Given the description of an element on the screen output the (x, y) to click on. 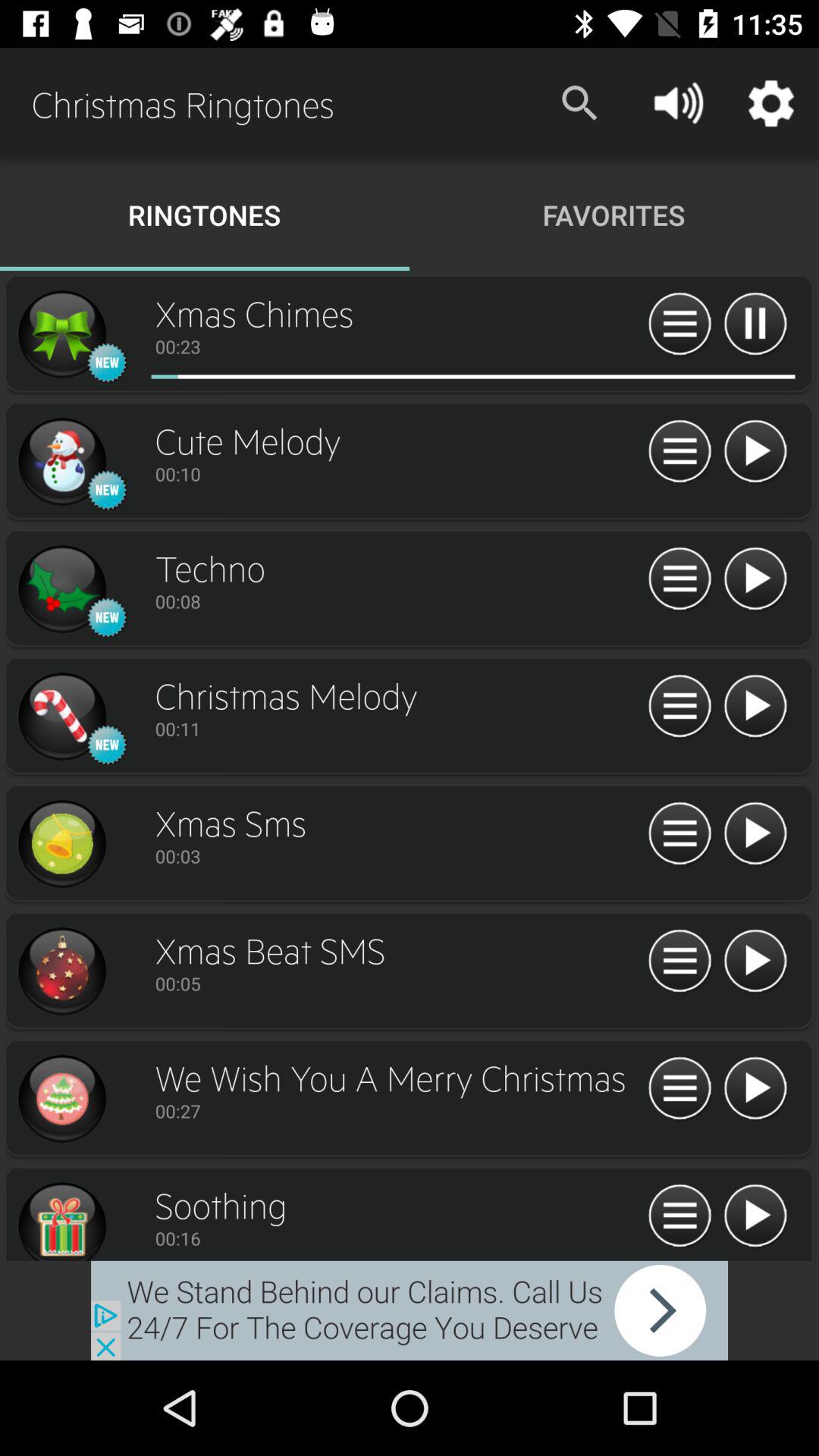
search (679, 1088)
